Given the description of an element on the screen output the (x, y) to click on. 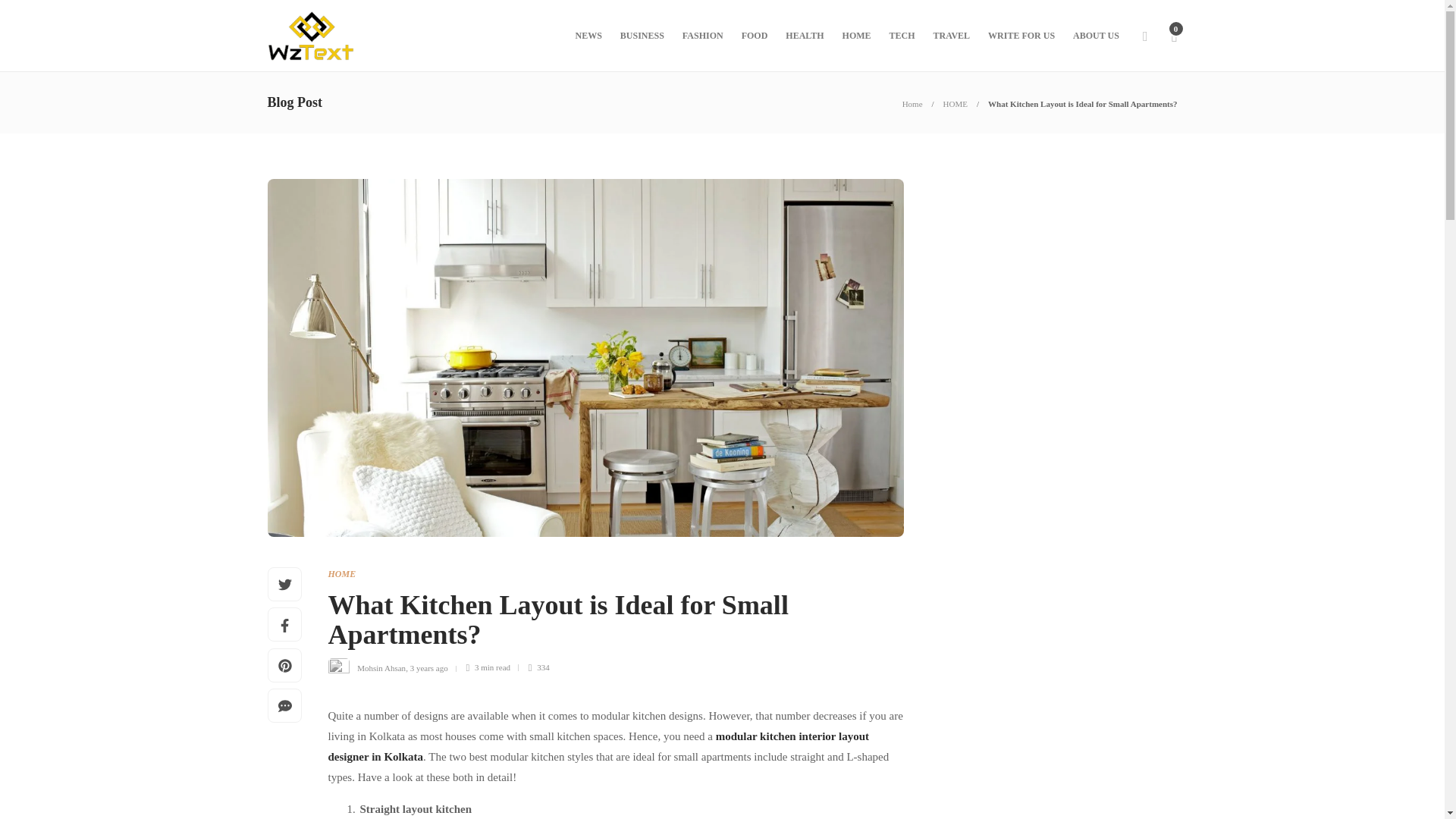
WRITE FOR US (1021, 35)
Home (912, 103)
HOME (955, 103)
Home (912, 103)
What Kitchen Layout is Ideal for Small Apartments? (1082, 103)
